Given the description of an element on the screen output the (x, y) to click on. 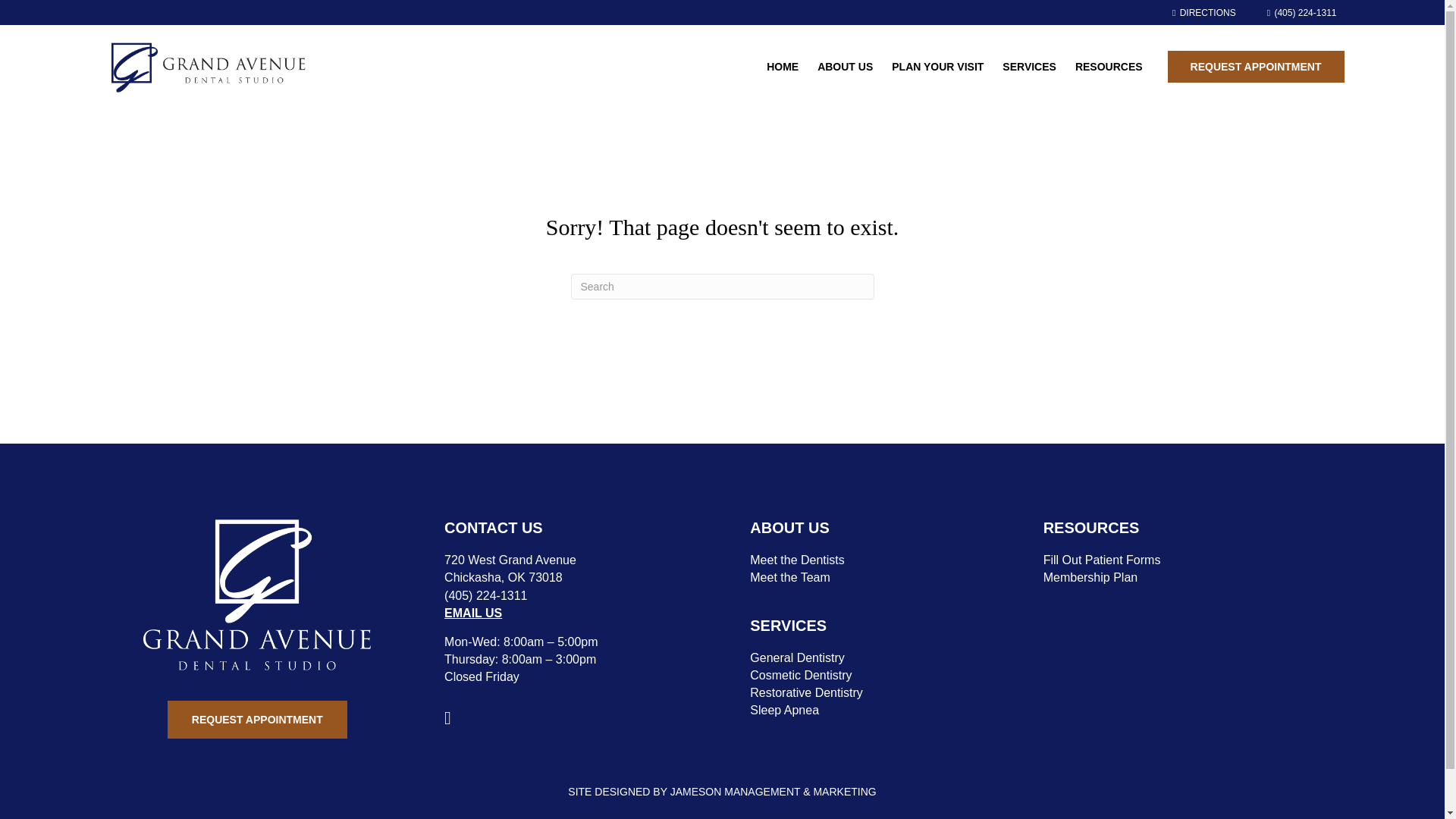
RESOURCES (1108, 66)
Membership Plan (1090, 576)
General Dentistry (796, 657)
PLAN YOUR VISIT (937, 66)
EMAIL US (473, 612)
Sleep Apnea (783, 709)
SERVICES (1028, 66)
Restorative Dentistry (806, 692)
HOME (782, 66)
REQUEST APPOINTMENT (1255, 66)
720 West Grand Avenue (510, 559)
REQUEST APPOINTMENT (257, 720)
Meet the Team (789, 576)
Type and press Enter to search. (721, 286)
grand-ave-logo-menu (205, 66)
